Given the description of an element on the screen output the (x, y) to click on. 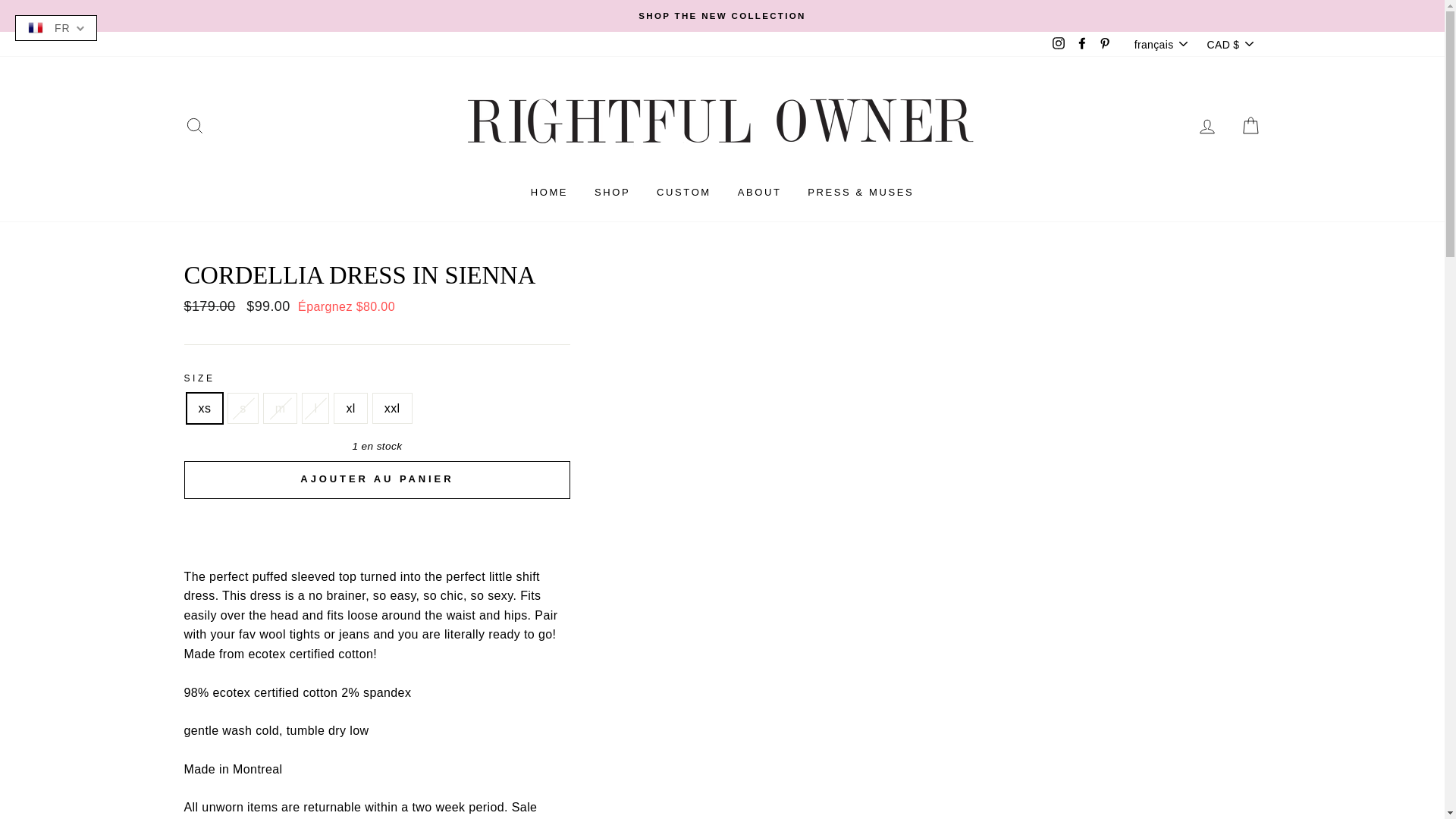
SHOP THE NEW COLLECTION (722, 15)
